Given the description of an element on the screen output the (x, y) to click on. 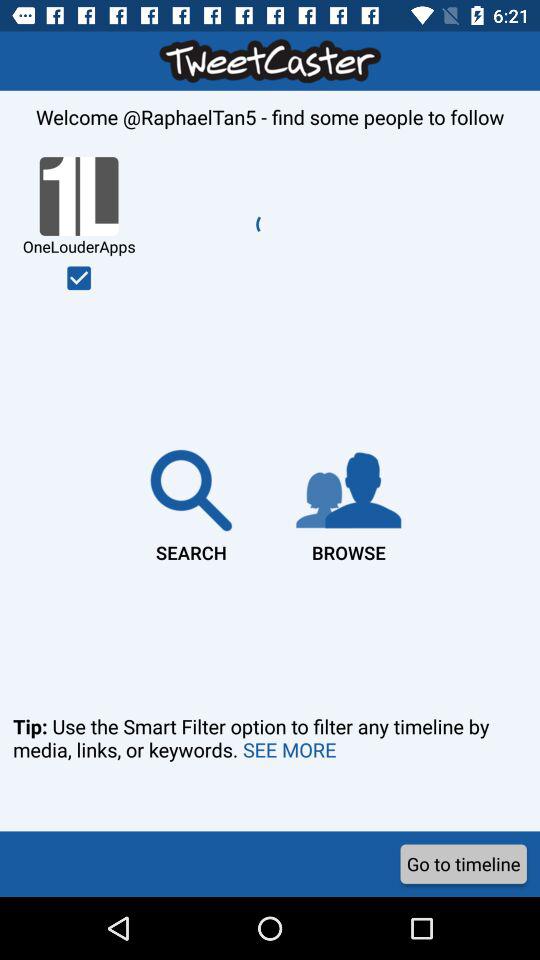
select the item to the right of the search item (348, 502)
